Given the description of an element on the screen output the (x, y) to click on. 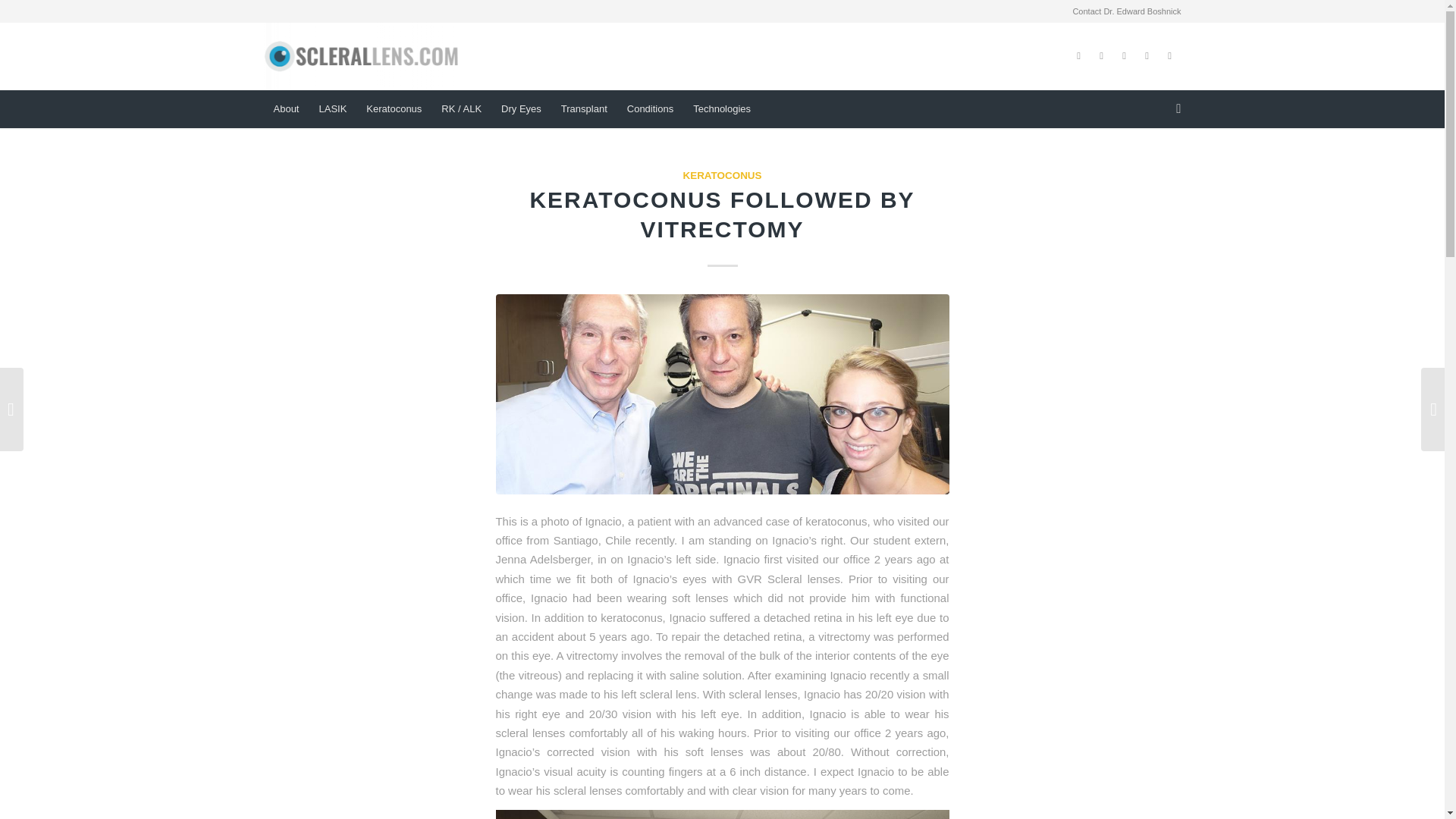
Contact Dr. Edward Boshnick (1125, 11)
Keratoconus (393, 108)
Youtube (1101, 56)
Instagram (1124, 56)
LASIK (332, 108)
LinkedIn (1146, 56)
About (285, 108)
6 (722, 393)
Twitter (1169, 56)
Facebook (1078, 56)
